Given the description of an element on the screen output the (x, y) to click on. 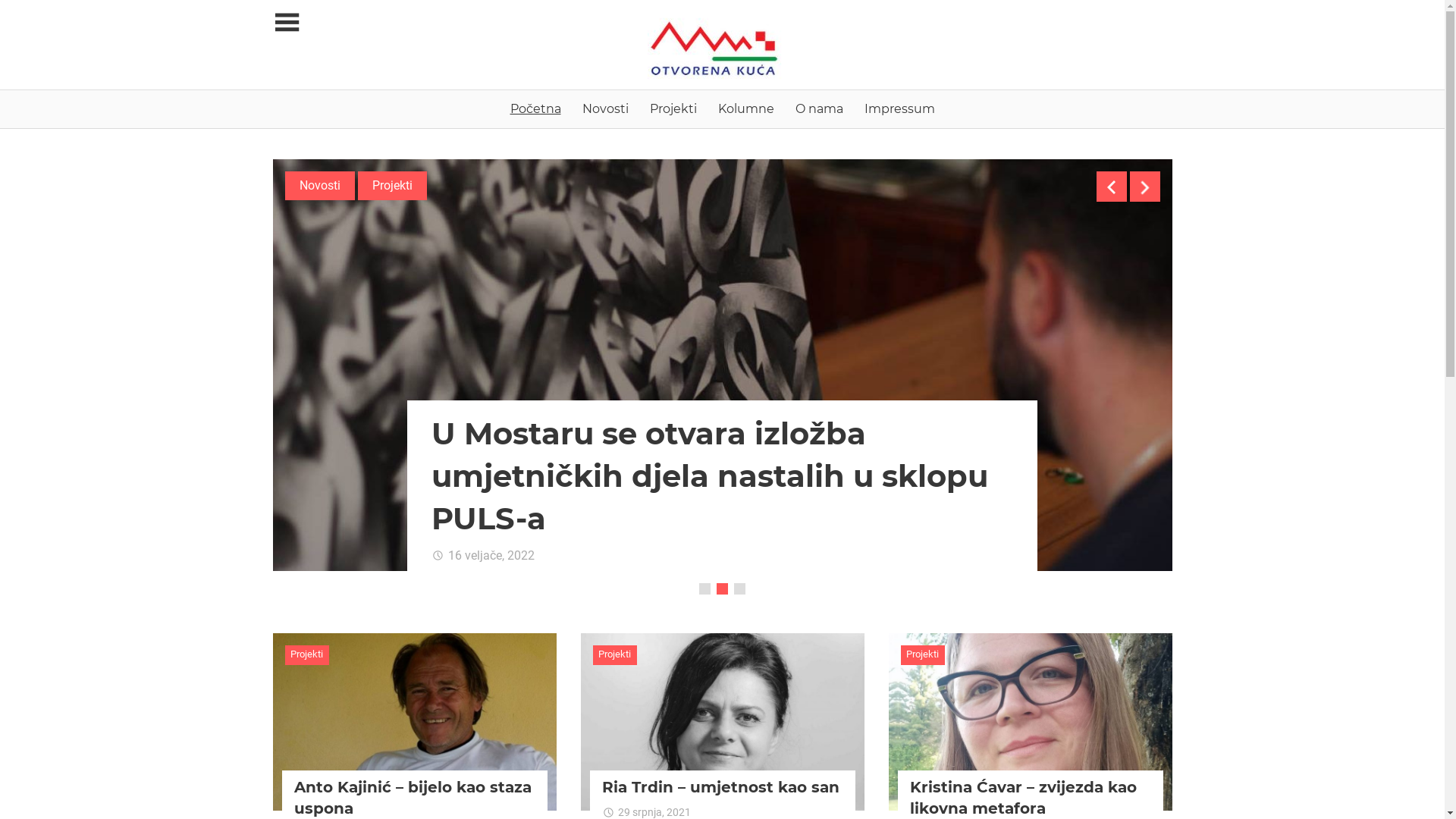
otvorena Element type: text (580, 555)
otvorena Element type: text (735, 812)
Projekti Element type: text (615, 655)
Projekti Element type: text (922, 655)
Kolumne Element type: text (745, 109)
Novosti Element type: text (605, 109)
Projekti Element type: text (672, 109)
Novosti Element type: text (319, 185)
Previous Element type: text (1111, 186)
Impressum Element type: text (899, 109)
2 Element type: text (722, 588)
29 srpnja, 2021 Element type: text (646, 812)
Projekti Element type: text (307, 655)
Next Element type: text (1144, 186)
3 Element type: text (739, 588)
O nama Element type: text (818, 109)
1 Element type: text (704, 588)
23 srpnja, 2022 Element type: text (480, 555)
